Given the description of an element on the screen output the (x, y) to click on. 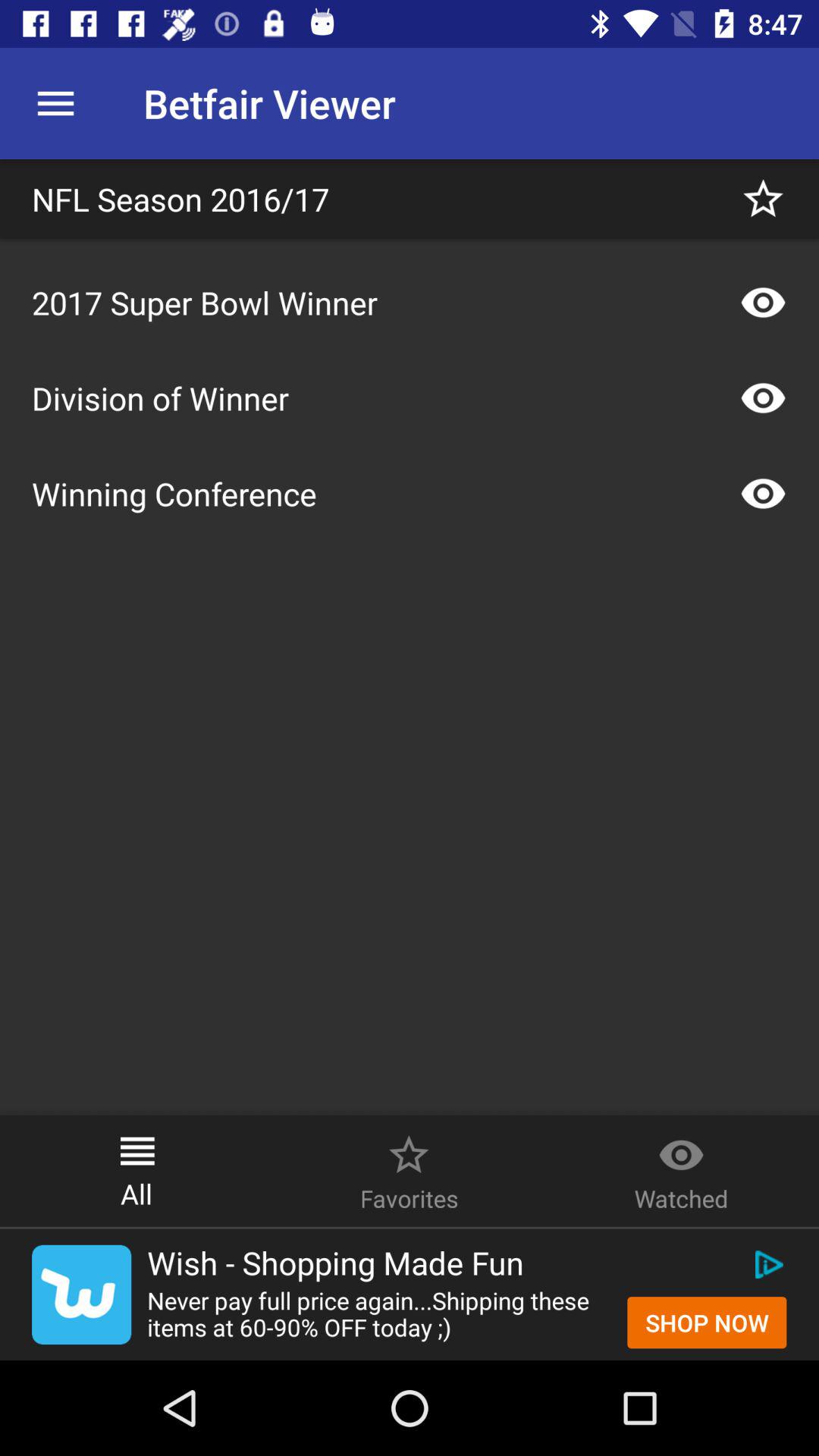
engage the advertisement open the application wish (81, 1294)
